Given the description of an element on the screen output the (x, y) to click on. 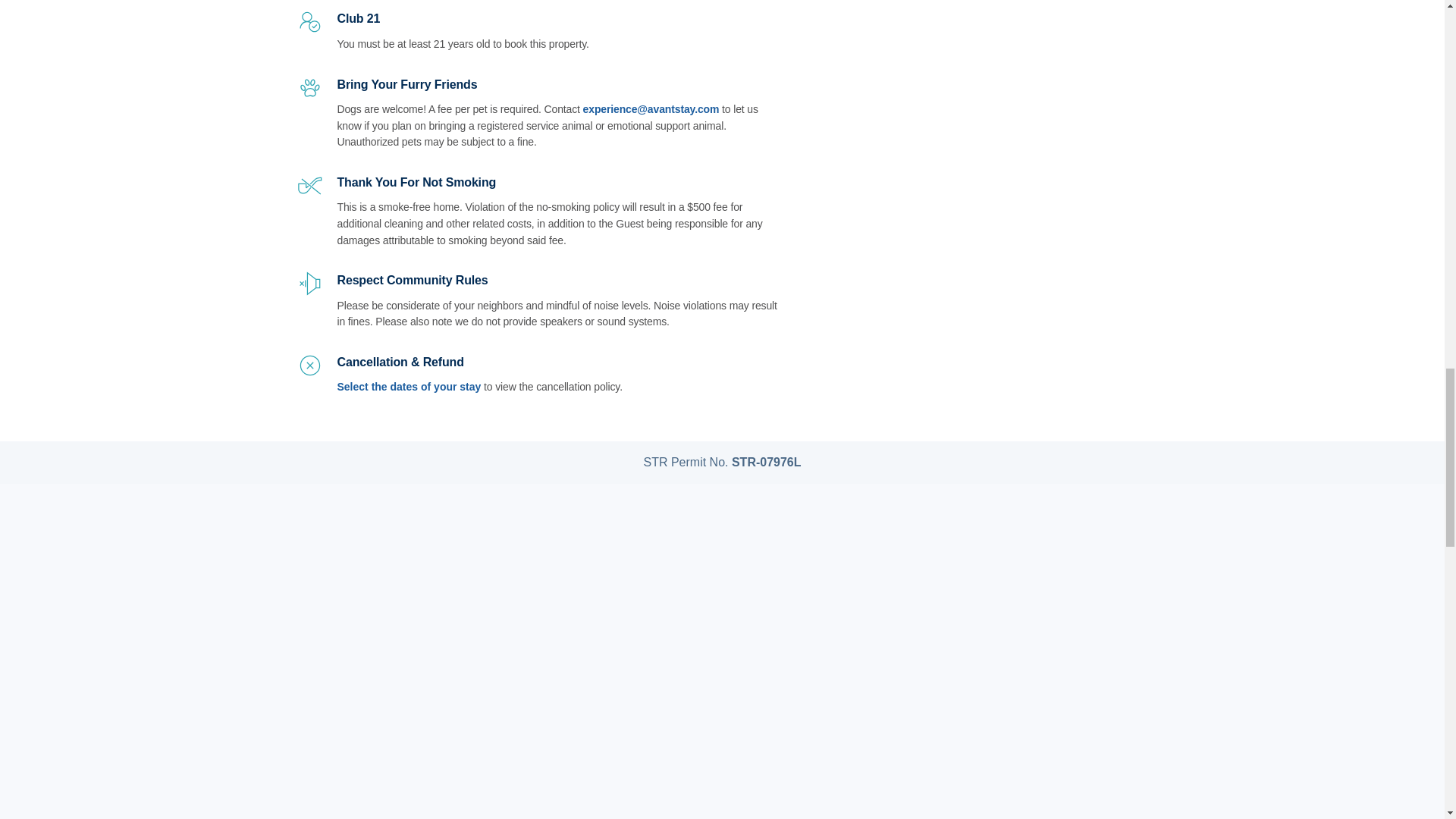
Select the dates of your stay (408, 387)
